Given the description of an element on the screen output the (x, y) to click on. 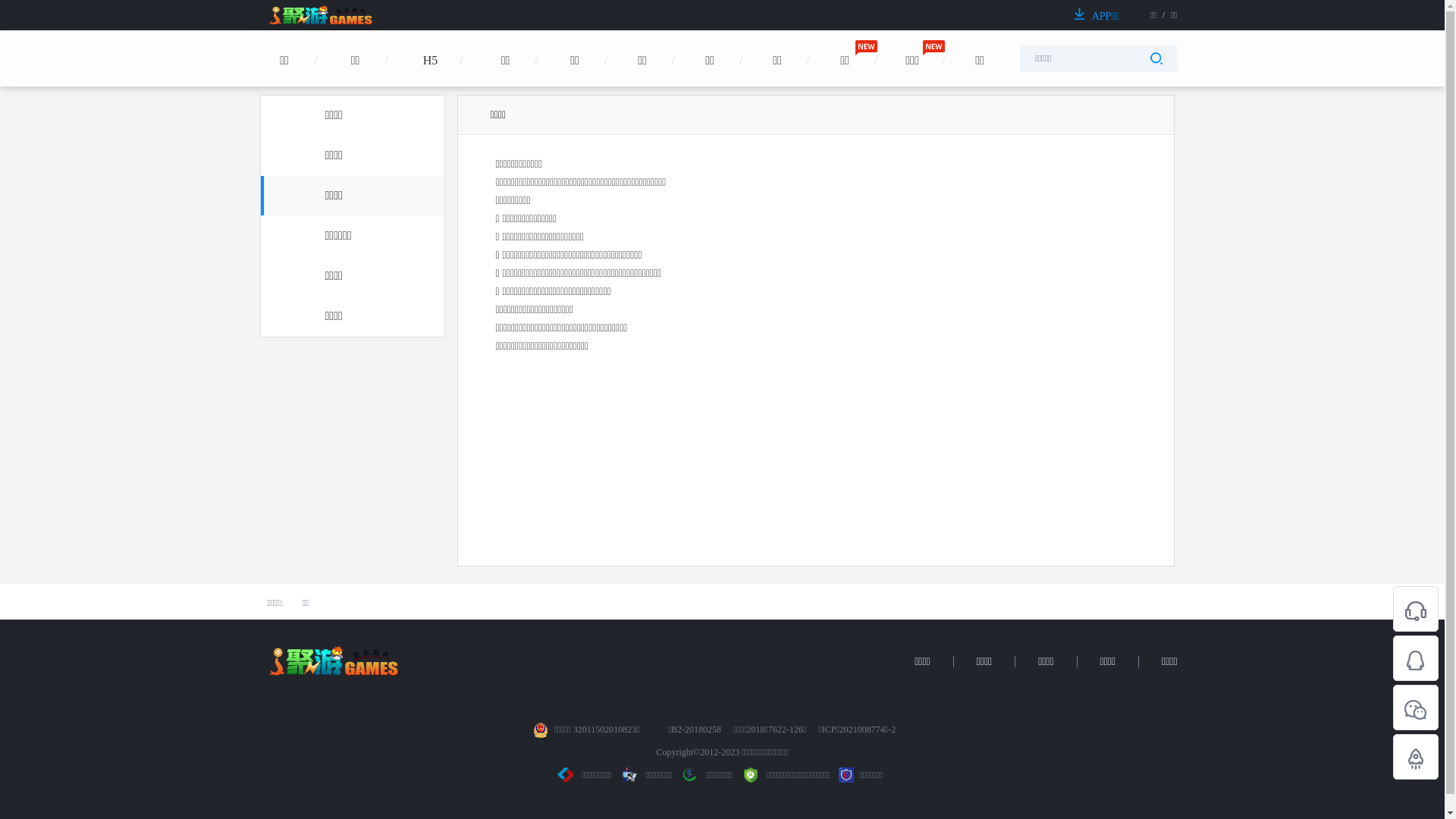
H5 Element type: text (429, 87)
